Given the description of an element on the screen output the (x, y) to click on. 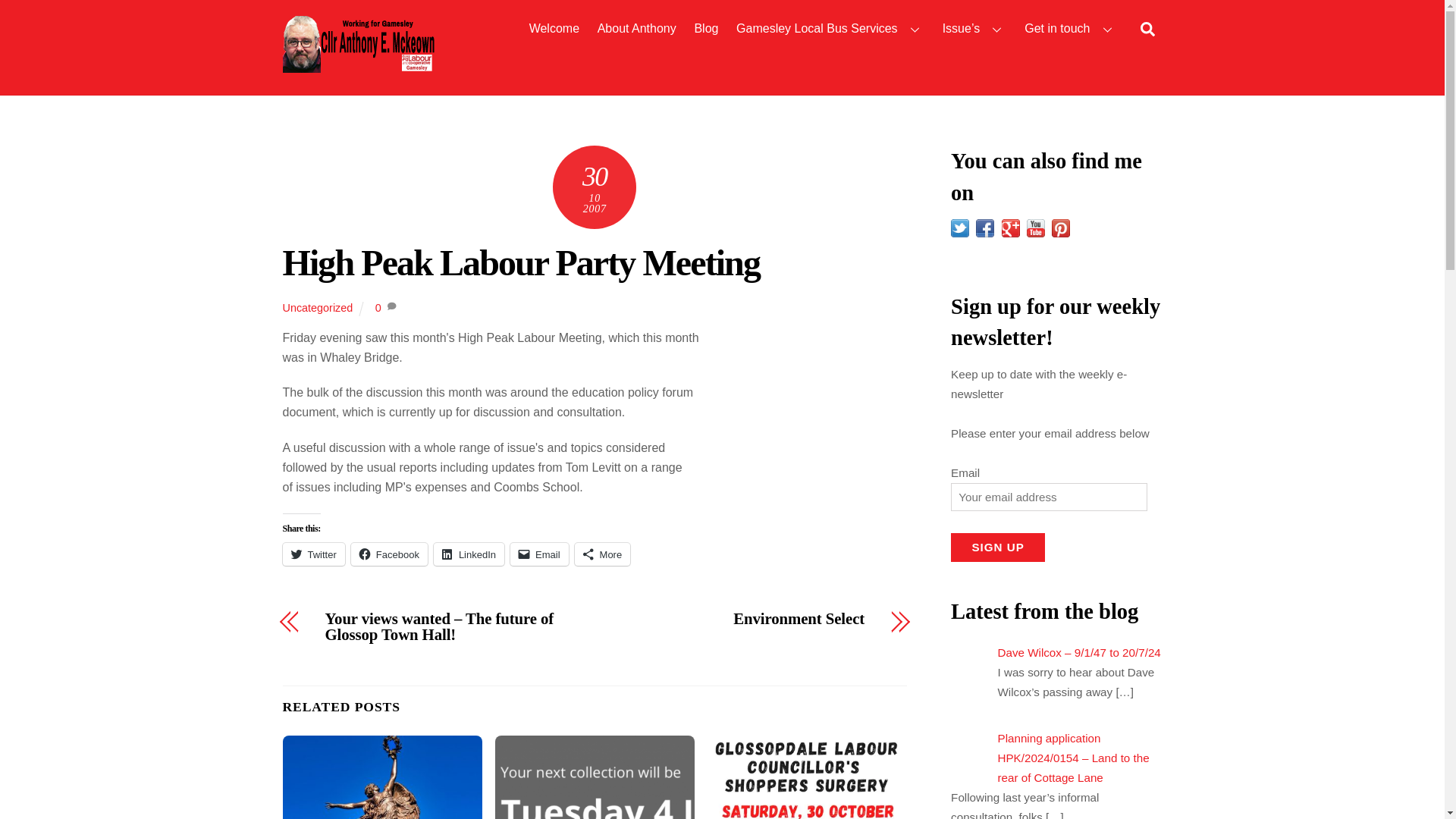
Click to share on LinkedIn (468, 553)
LinkedIn (468, 553)
WhatsApp Image 2021-10-29 at 08.28.18 (807, 777)
Facebook (389, 553)
Uncategorized (317, 307)
Anthony Mckeowns Website (357, 65)
Sign up (997, 547)
Twitter (312, 553)
About Anthony (635, 28)
High Peak Labour Party Meeting (520, 262)
